Given the description of an element on the screen output the (x, y) to click on. 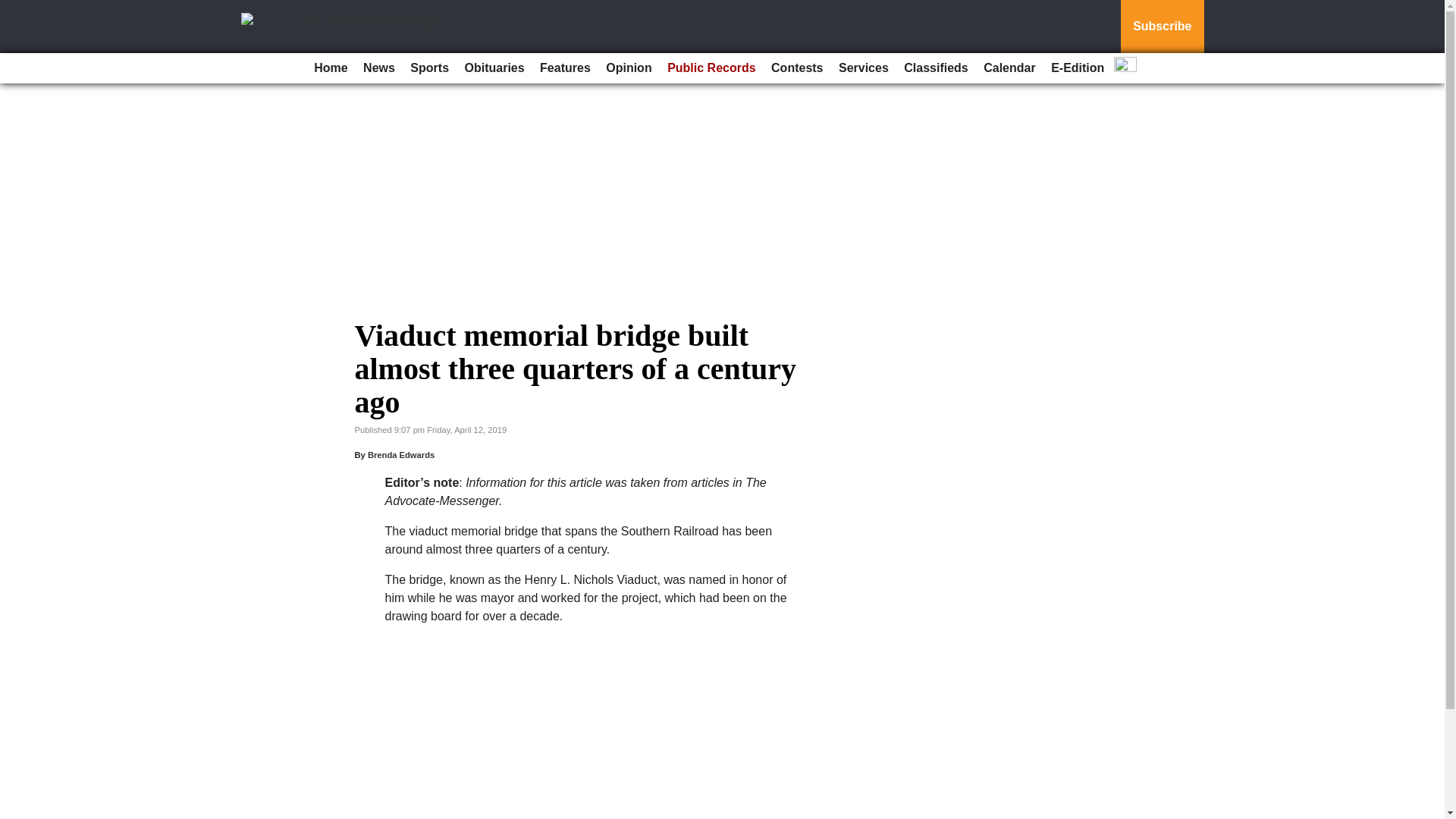
Obituaries (493, 68)
E-Edition (1077, 68)
Calendar (1008, 68)
Home (330, 68)
Services (863, 68)
Sports (429, 68)
Public Records (711, 68)
Opinion (628, 68)
Brenda Edwards (400, 454)
News (378, 68)
Contests (796, 68)
Go (13, 9)
Features (565, 68)
Classifieds (936, 68)
Subscribe (1162, 26)
